Given the description of an element on the screen output the (x, y) to click on. 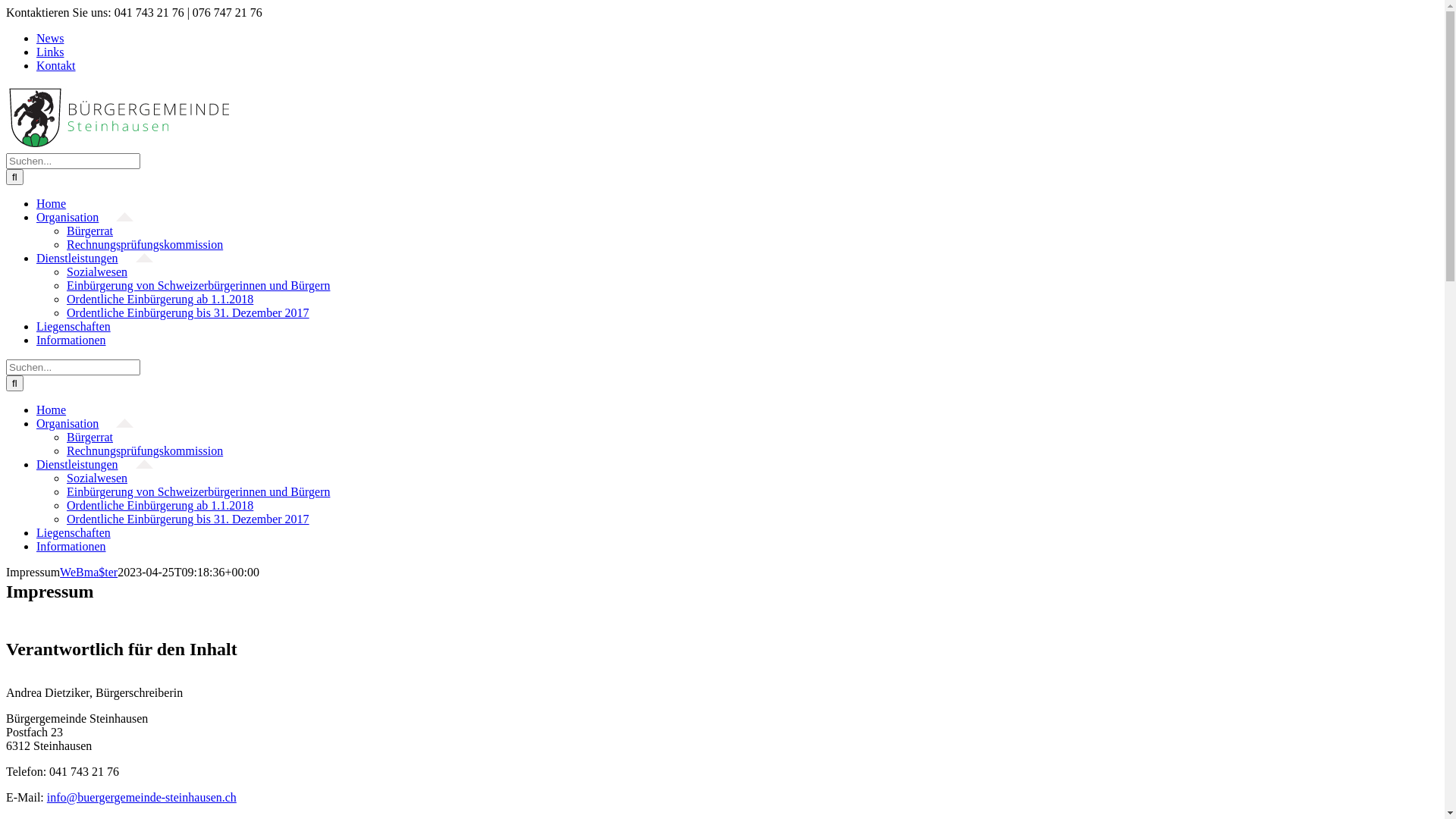
Organisation Element type: text (84, 216)
Home Element type: text (59, 409)
Links Element type: text (58, 51)
Dienstleistungen Element type: text (94, 257)
Sozialwesen Element type: text (96, 271)
Liegenschaften Element type: text (82, 532)
WeBma$ter Element type: text (88, 571)
Liegenschaften Element type: text (82, 326)
Home Element type: text (59, 203)
info@buergergemeinde-steinhausen.ch Element type: text (141, 796)
Informationen Element type: text (79, 339)
Organisation Element type: text (84, 423)
Sozialwesen Element type: text (96, 477)
News Element type: text (58, 37)
Kontakt Element type: text (64, 65)
Zum Inhalt springen Element type: text (5, 5)
Informationen Element type: text (79, 545)
Dienstleistungen Element type: text (94, 464)
